Given the description of an element on the screen output the (x, y) to click on. 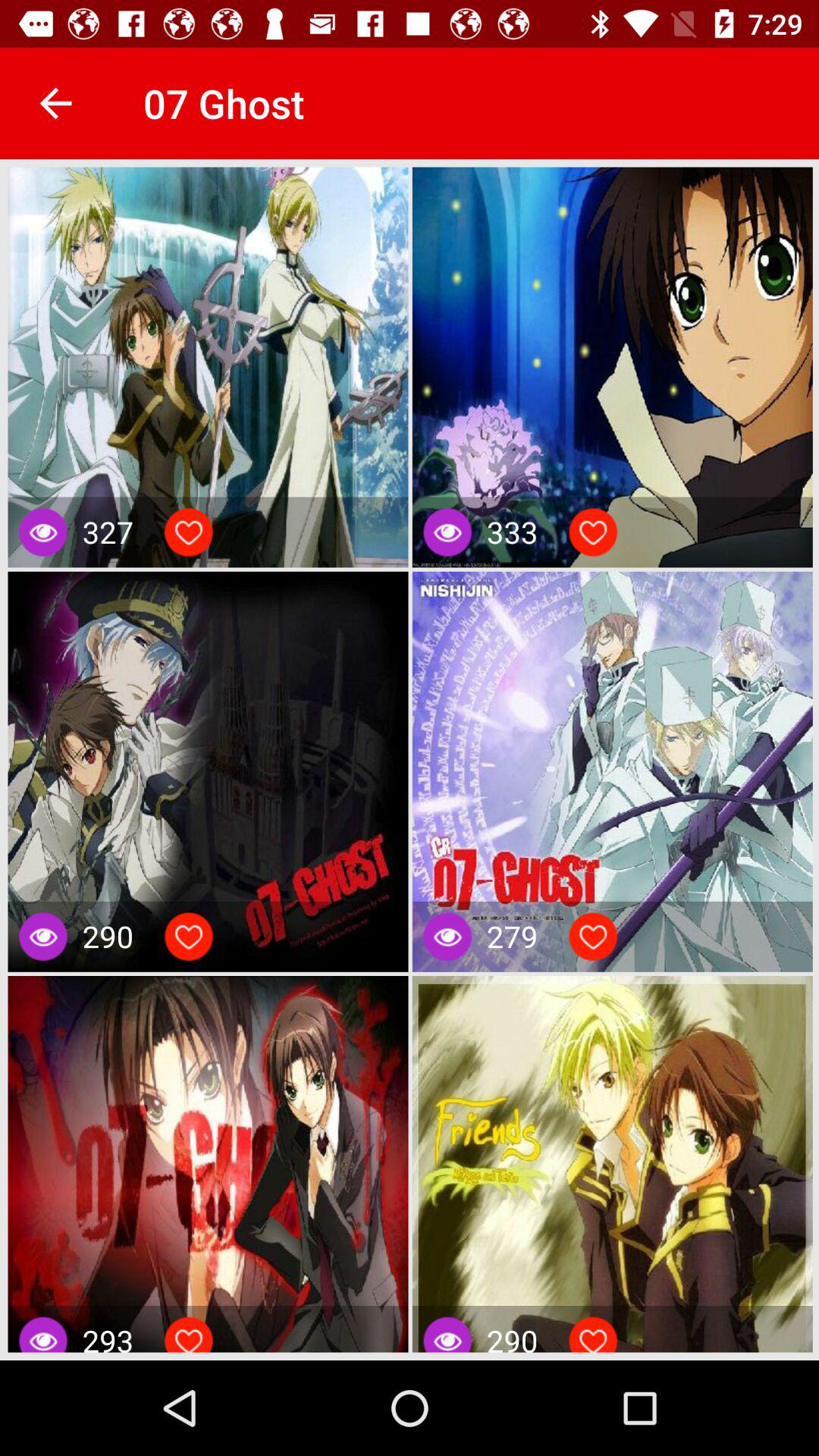
like option (593, 1338)
